Given the description of an element on the screen output the (x, y) to click on. 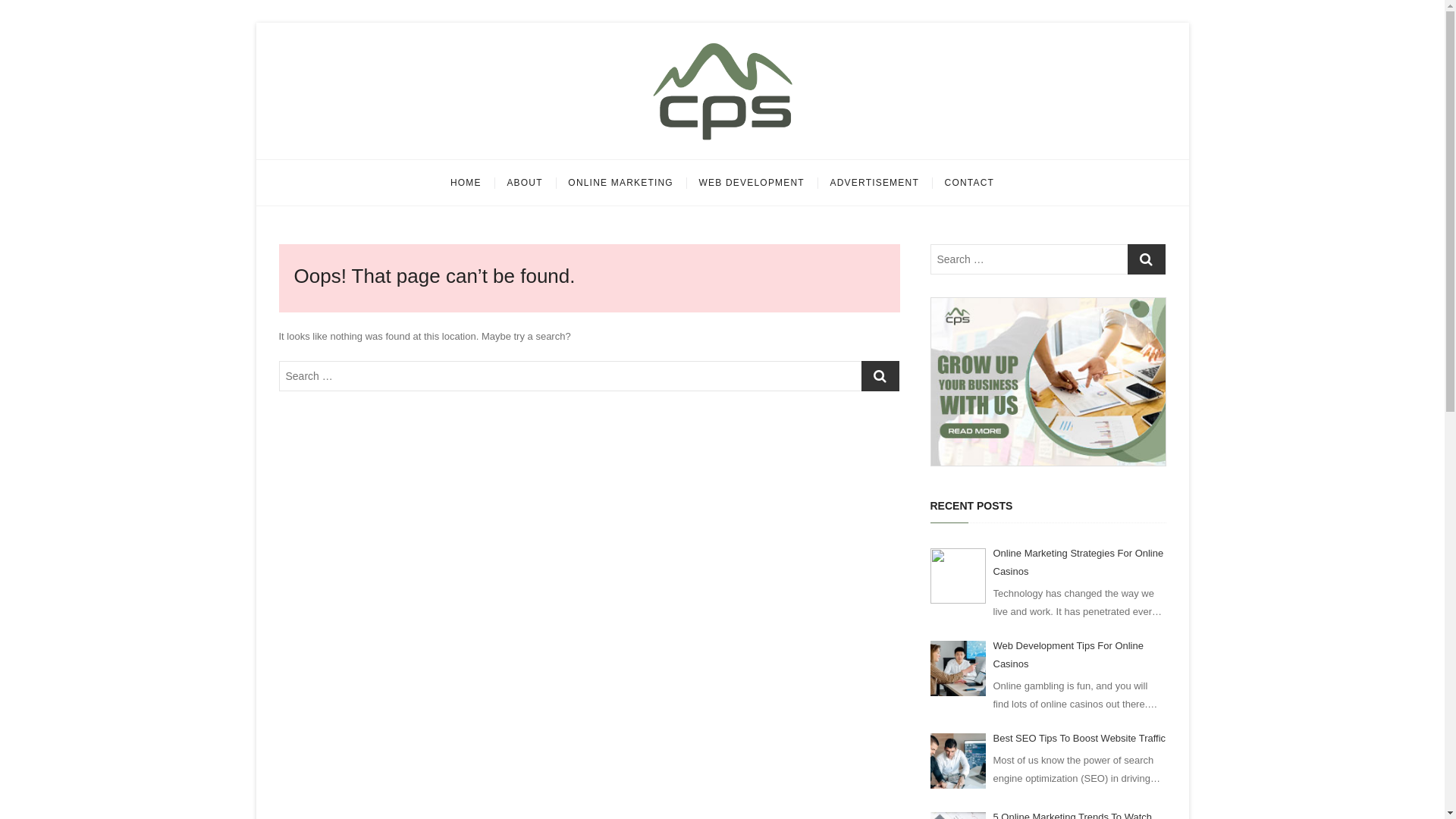
Best SEO Tips To Boost Website Traffic Element type: text (1079, 738)
ADVERTISEMENT Element type: text (874, 182)
Skip to content Element type: text (254, 21)
CPS Element type: text (479, 160)
Web Development Tips For Online Casinos Element type: text (1079, 655)
Web Development Tips For Online Casinos Element type: hover (957, 668)
ONLINE MARKETING Element type: text (620, 182)
ABOUT Element type: text (524, 182)
WEB DEVELOPMENT Element type: text (751, 182)
Online Marketing Strategies For Online Casinos Element type: hover (957, 575)
CONTACT Element type: text (969, 182)
Online Marketing Strategies For Online Casinos Element type: text (1079, 562)
HOME Element type: text (465, 182)
Best SEO Tips To Boost Website Traffic Element type: hover (957, 760)
